Given the description of an element on the screen output the (x, y) to click on. 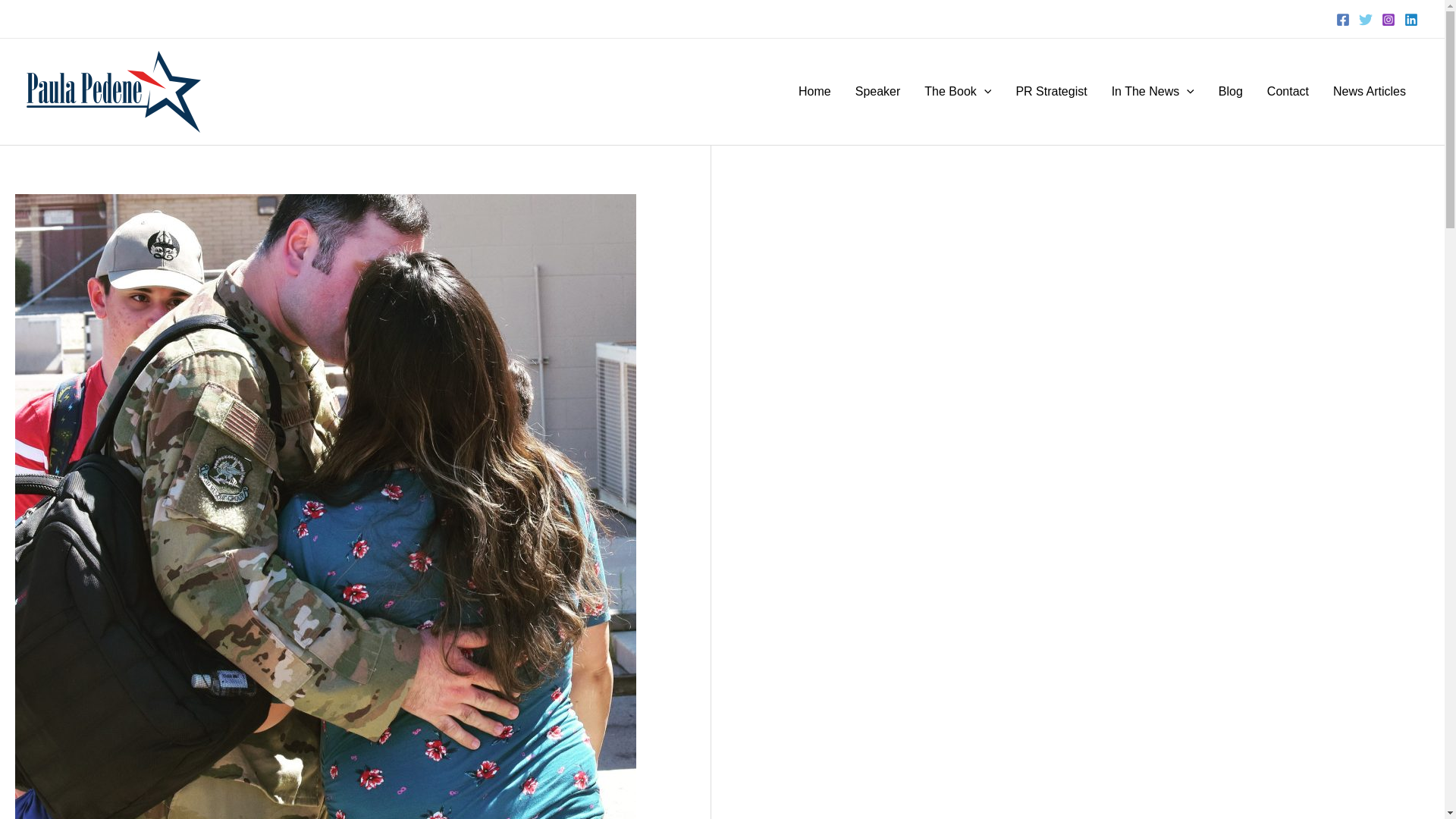
PR Strategist (1051, 91)
In The News (1153, 91)
News Articles (1369, 91)
Home (814, 91)
Contact (1287, 91)
Blog (1231, 91)
Speaker (877, 91)
The Book (957, 91)
